Given the description of an element on the screen output the (x, y) to click on. 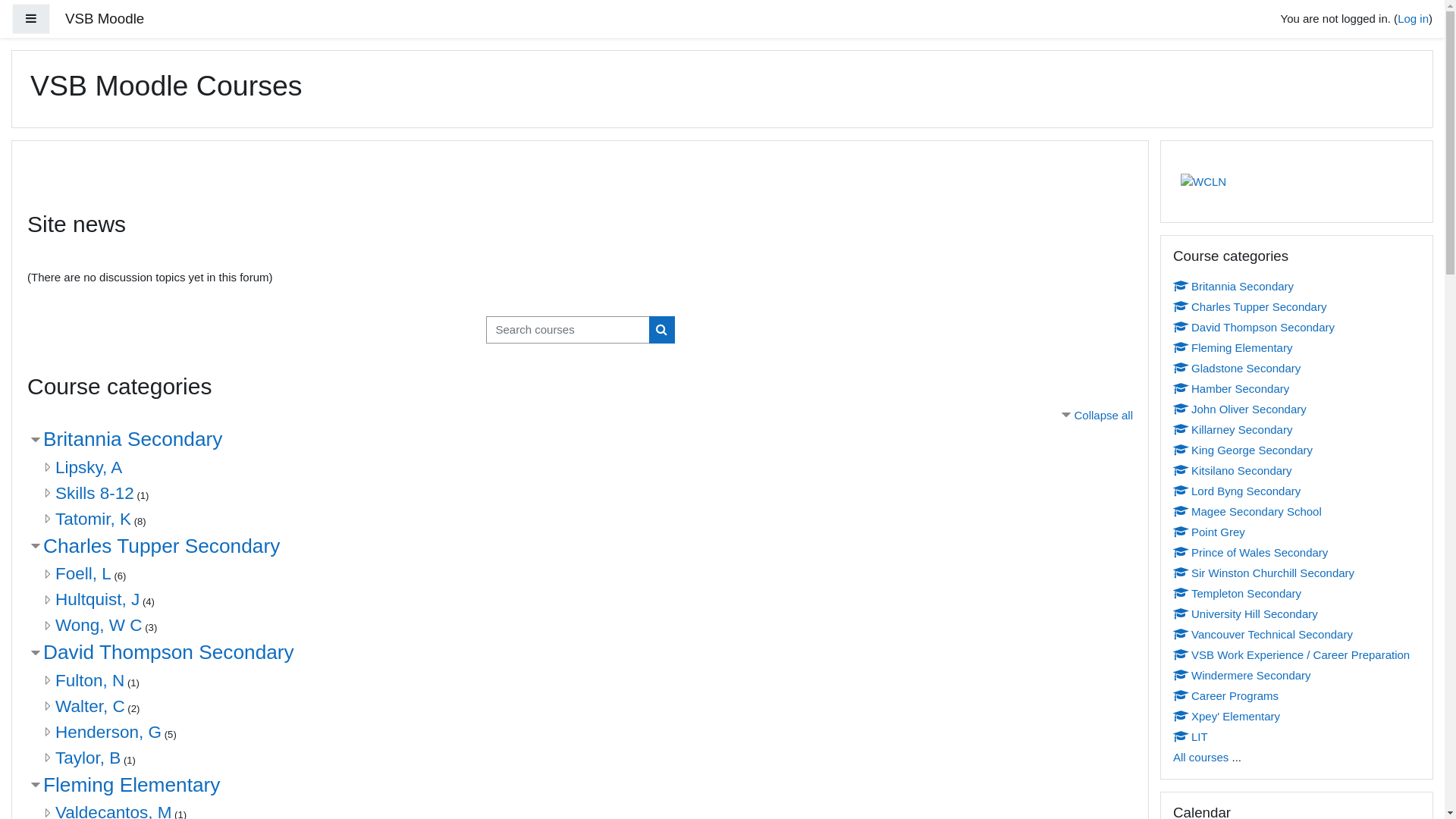
Foell, L Element type: text (83, 573)
Britannia Secondary Element type: text (132, 438)
Kitsilano Secondary Element type: text (1232, 470)
Course Element type: hover (1179, 695)
Sir Winston Churchill Secondary Element type: text (1263, 572)
Magee Secondary School Element type: text (1247, 511)
Course Element type: hover (1179, 490)
Course Element type: hover (1179, 633)
David Thompson Secondary Element type: text (1253, 326)
Course Element type: hover (1179, 613)
LIT Element type: text (1190, 736)
Fleming Elementary Element type: text (1232, 347)
Killarney Secondary Element type: text (1232, 429)
Course Element type: hover (1179, 674)
Gladstone Secondary Element type: text (1236, 367)
Course Element type: hover (1179, 531)
Skip Calendar Element type: text (1159, 790)
Course Element type: hover (1179, 552)
Fulton, N Element type: text (89, 679)
Course Element type: hover (1179, 388)
Side panel Element type: text (31, 18)
King George Secondary Element type: text (1242, 449)
Wong, W C Element type: text (98, 624)
Course Element type: hover (1179, 736)
Skills 8-12 Element type: text (94, 492)
Henderson, G Element type: text (108, 730)
Collapse all Element type: text (1095, 413)
Templeton Secondary Element type: text (1237, 592)
Walter, C Element type: text (90, 705)
Hultquist, J Element type: text (97, 598)
Taylor, B Element type: text (87, 756)
Hamber Secondary Element type: text (1231, 388)
Lord Byng Secondary Element type: text (1236, 490)
Search courses Element type: text (661, 329)
Windermere Secondary Element type: text (1242, 674)
Skip Course categories Element type: text (1159, 234)
Course Element type: hover (1179, 511)
Charles Tupper Secondary Element type: text (161, 544)
Course Element type: hover (1179, 367)
Course Element type: hover (1179, 449)
David Thompson Secondary Element type: text (168, 651)
University Hill Secondary Element type: text (1245, 613)
Fleming Elementary Element type: text (131, 784)
Course Element type: hover (1179, 654)
Course Element type: hover (1179, 572)
Xpey' Elementary Element type: text (1226, 715)
Prince of Wales Secondary Element type: text (1250, 552)
Charles Tupper Secondary Element type: text (1249, 306)
Course Element type: hover (1179, 347)
VSB Work Experience / Career Preparation Element type: text (1291, 654)
Tatomir, K Element type: text (93, 518)
Point Grey Element type: text (1209, 531)
Britannia Secondary Element type: text (1233, 285)
Course Element type: hover (1179, 326)
Course Element type: hover (1179, 306)
Course Element type: hover (1179, 592)
Vancouver Technical Secondary Element type: text (1262, 633)
Course Element type: hover (1179, 715)
Log in Element type: text (1412, 18)
Career Programs Element type: text (1225, 695)
Course Element type: hover (1179, 429)
Lipsky, A Element type: text (88, 467)
John Oliver Secondary Element type: text (1239, 408)
VSB Moodle Element type: text (104, 19)
Course Element type: hover (1179, 285)
All courses Element type: text (1200, 756)
Course Element type: hover (1179, 470)
Course Element type: hover (1179, 408)
